Given the description of an element on the screen output the (x, y) to click on. 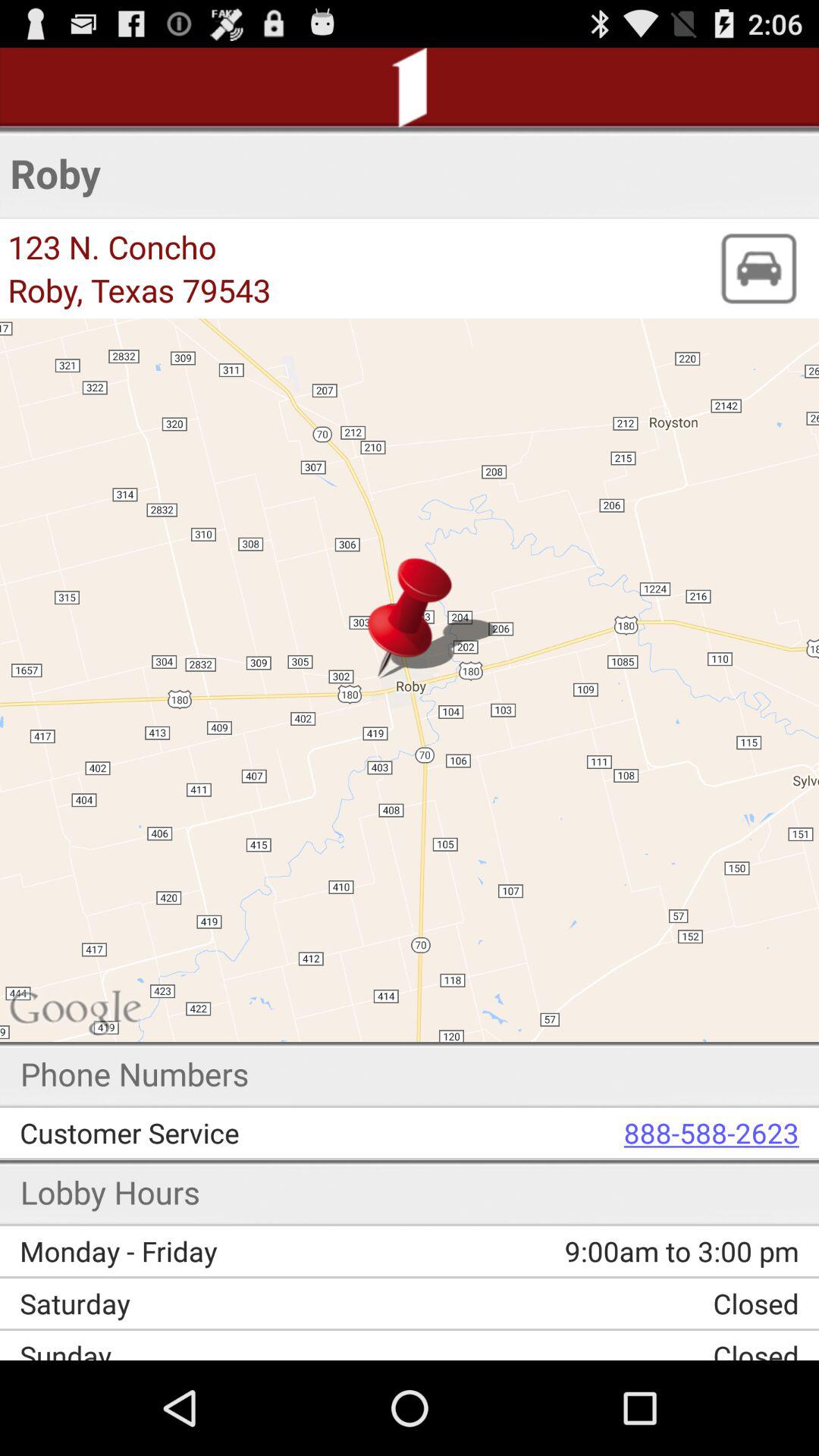
turn off lobby hours item (110, 1191)
